Given the description of an element on the screen output the (x, y) to click on. 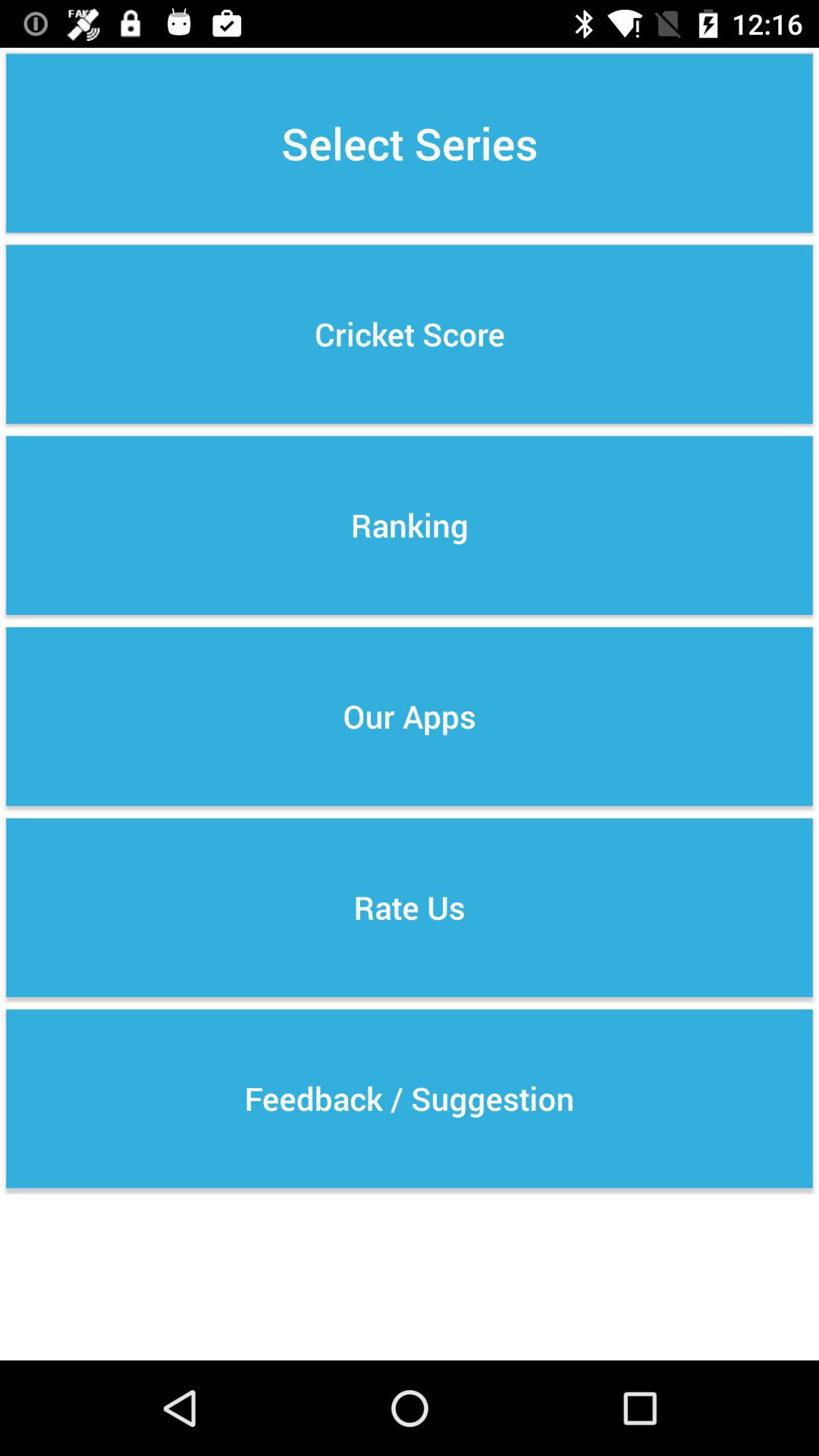
press the button below select series button (409, 334)
